Given the description of an element on the screen output the (x, y) to click on. 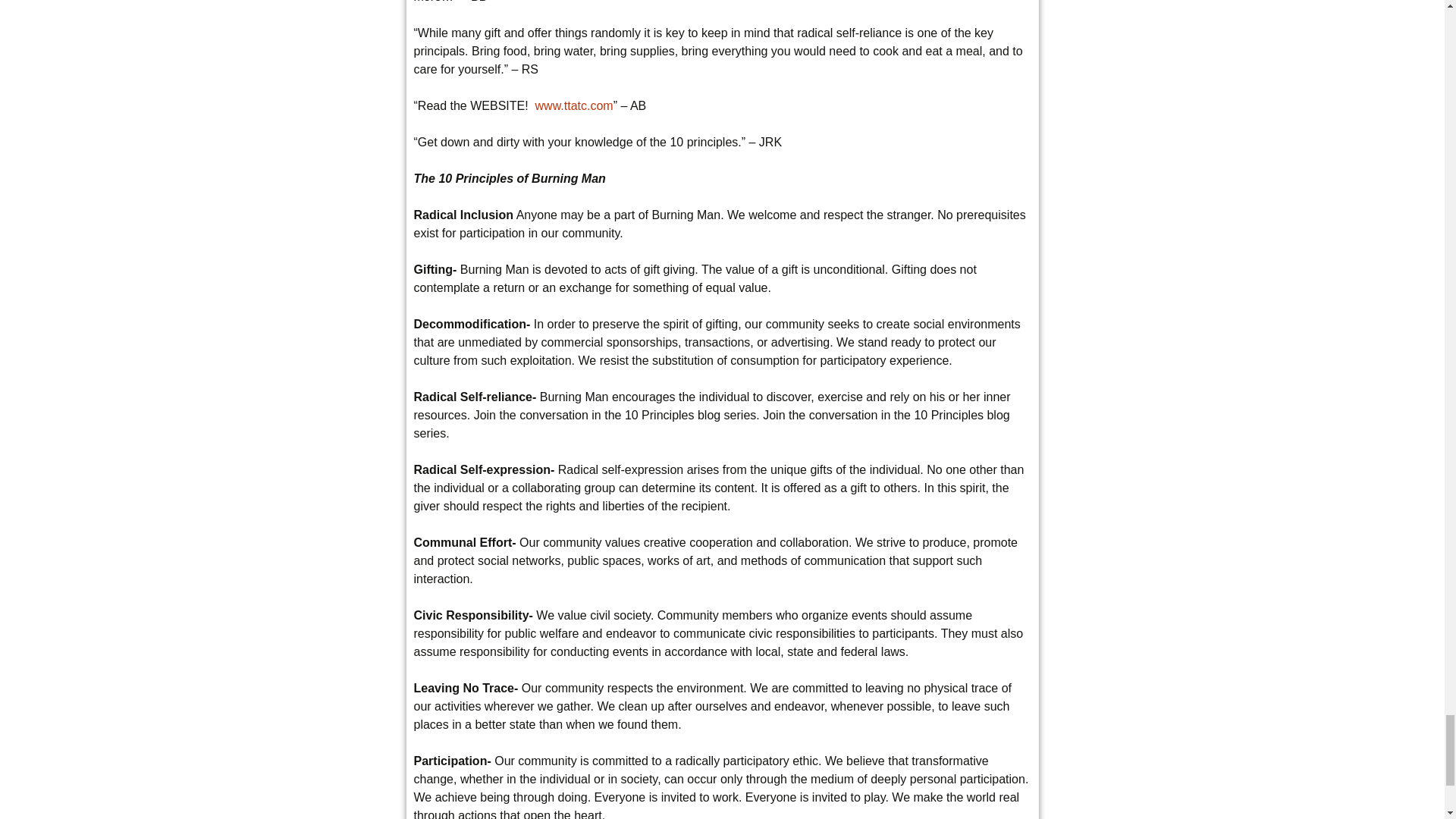
www.ttatc.com (573, 105)
